Given the description of an element on the screen output the (x, y) to click on. 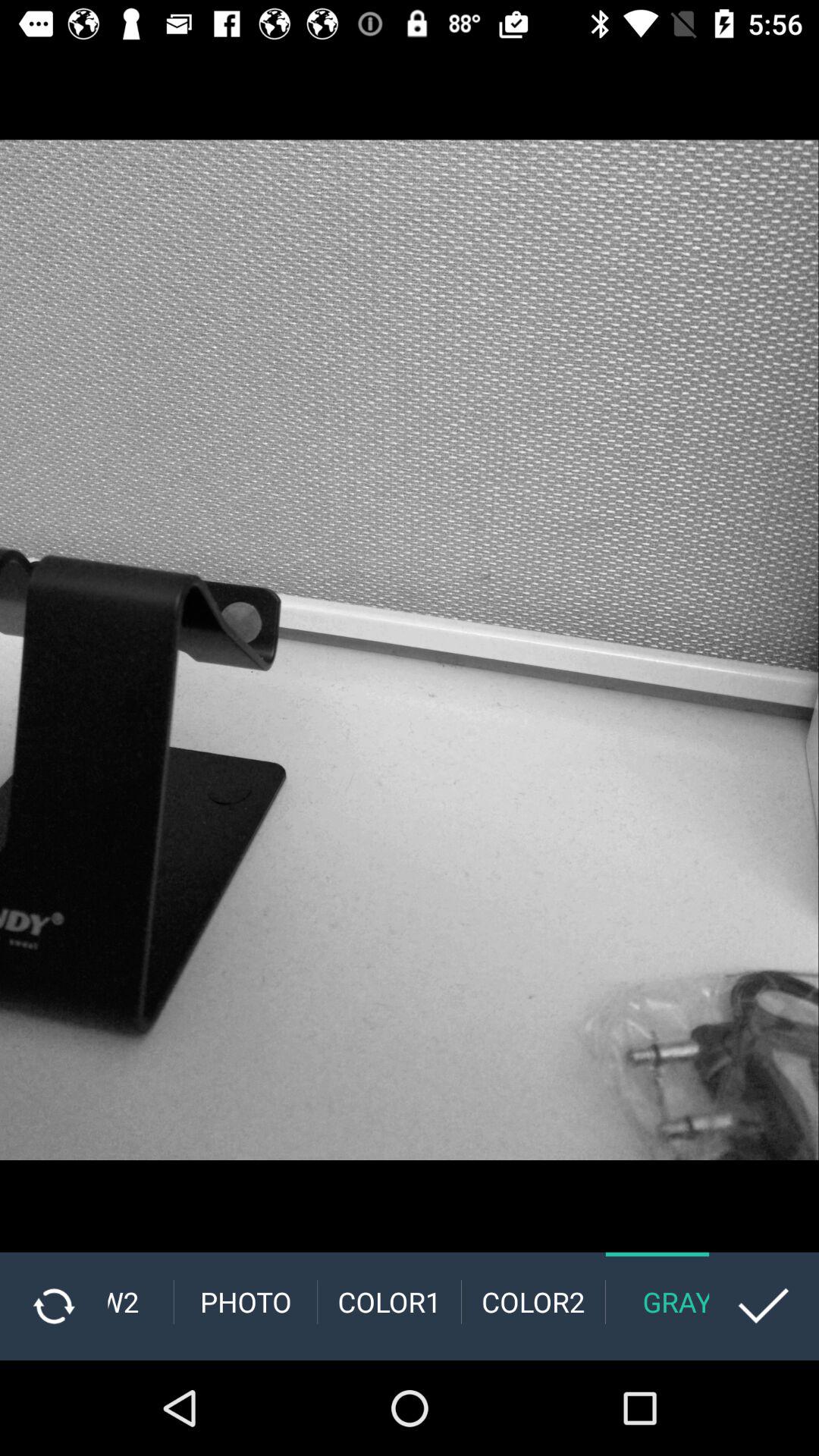
choose color1 icon (389, 1301)
